Given the description of an element on the screen output the (x, y) to click on. 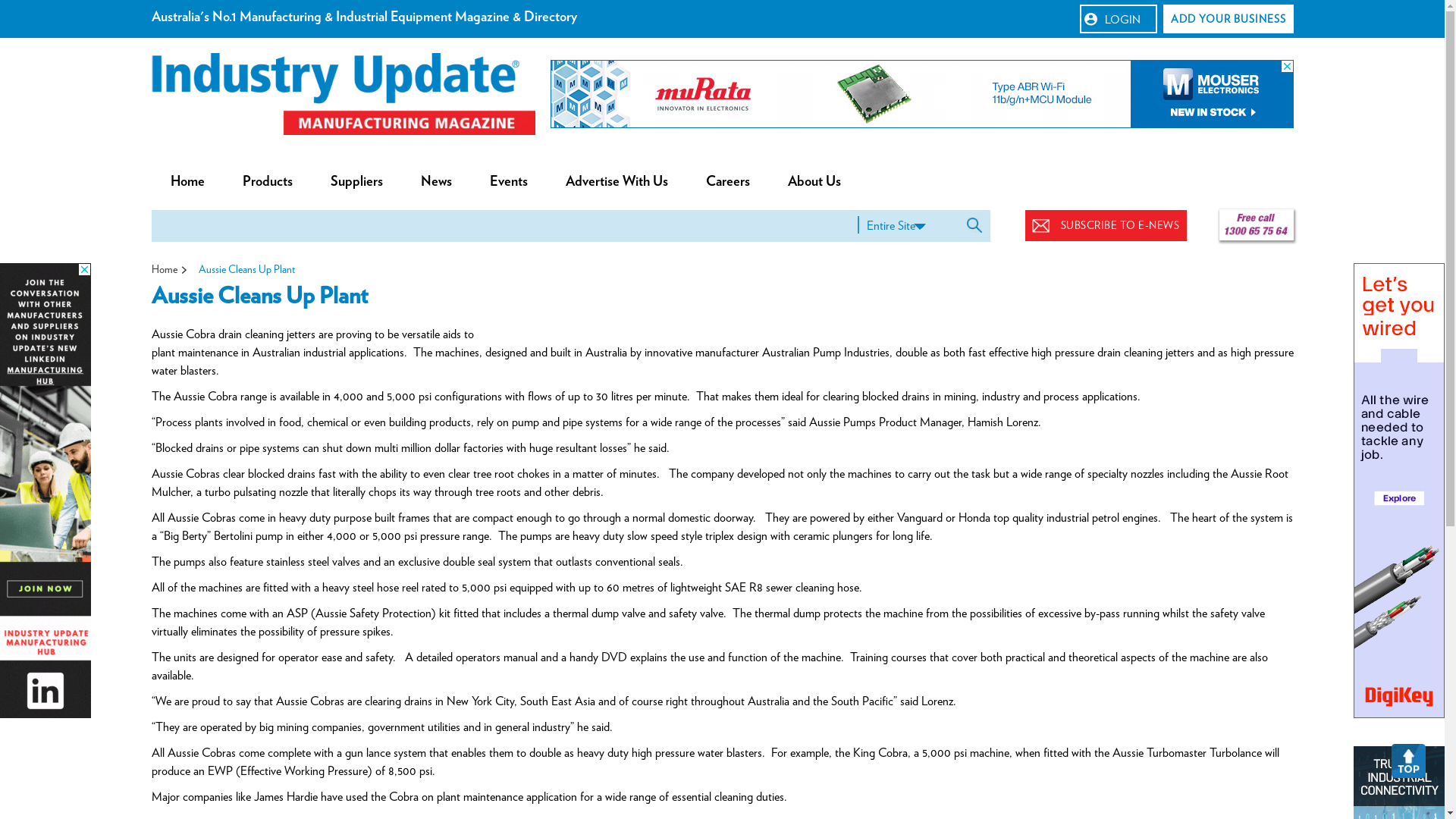
Careers Element type: text (727, 181)
Products Element type: text (266, 181)
Suppliers Element type: text (355, 181)
LOGIN Element type: text (1118, 18)
Home Element type: text (187, 181)
3rd party ad content Element type: hover (921, 93)
Advertise With Us Element type: text (616, 181)
Home Element type: hover (343, 93)
News Element type: text (435, 181)
About Us Element type: text (813, 181)
Home Element type: text (164, 269)
SUBSCRIBE TO E-NEWS Element type: text (1106, 225)
ADD YOUR BUSINESS Element type: text (1228, 18)
Search Element type: text (976, 224)
Enter the terms you wish to search for. Element type: hover (503, 225)
Top Element type: text (1408, 760)
Events Element type: text (508, 181)
Jump to navigation Element type: text (722, 2)
3rd party ad content Element type: hover (45, 490)
